Given the description of an element on the screen output the (x, y) to click on. 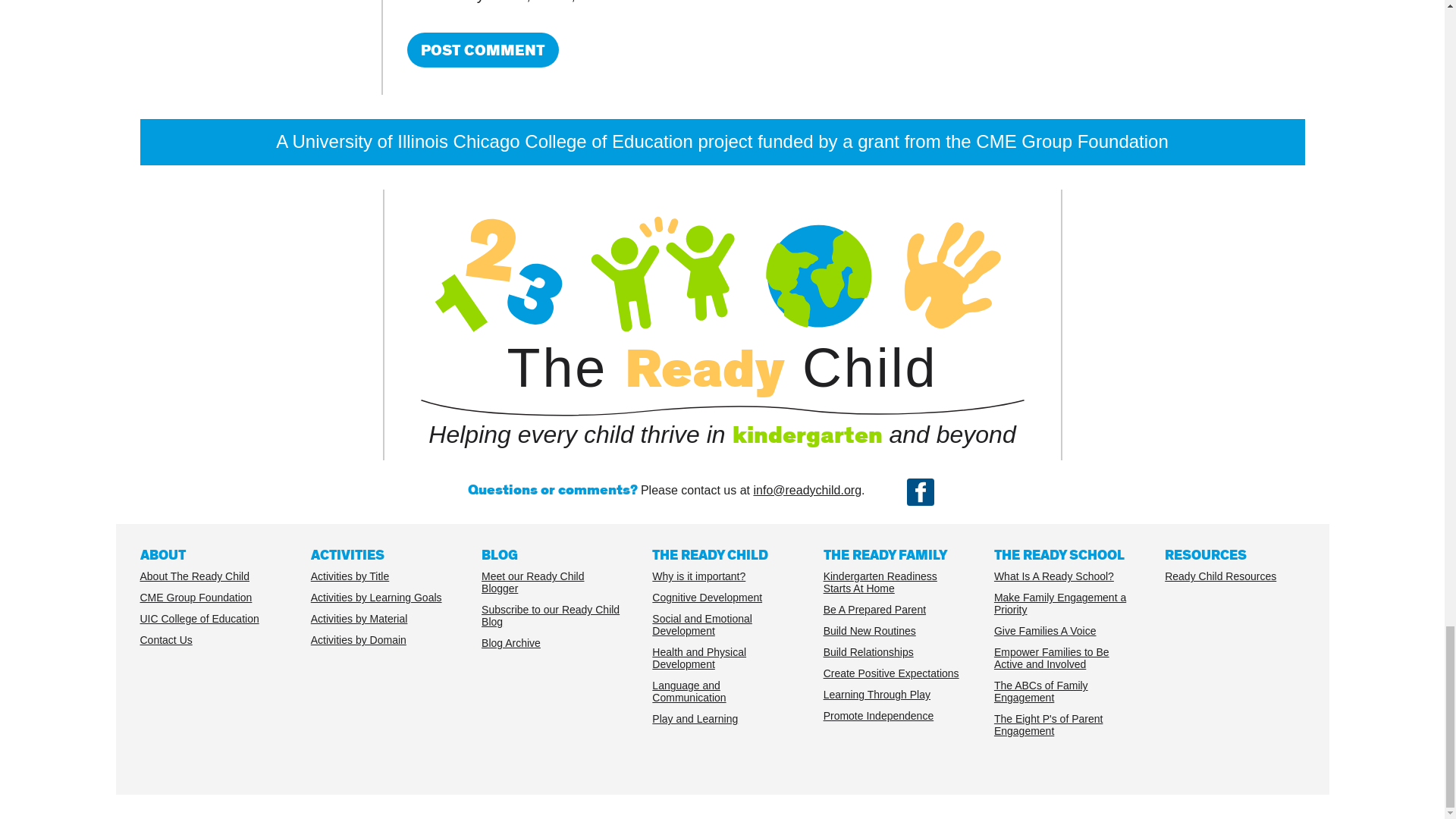
Post Comment (481, 49)
